Given the description of an element on the screen output the (x, y) to click on. 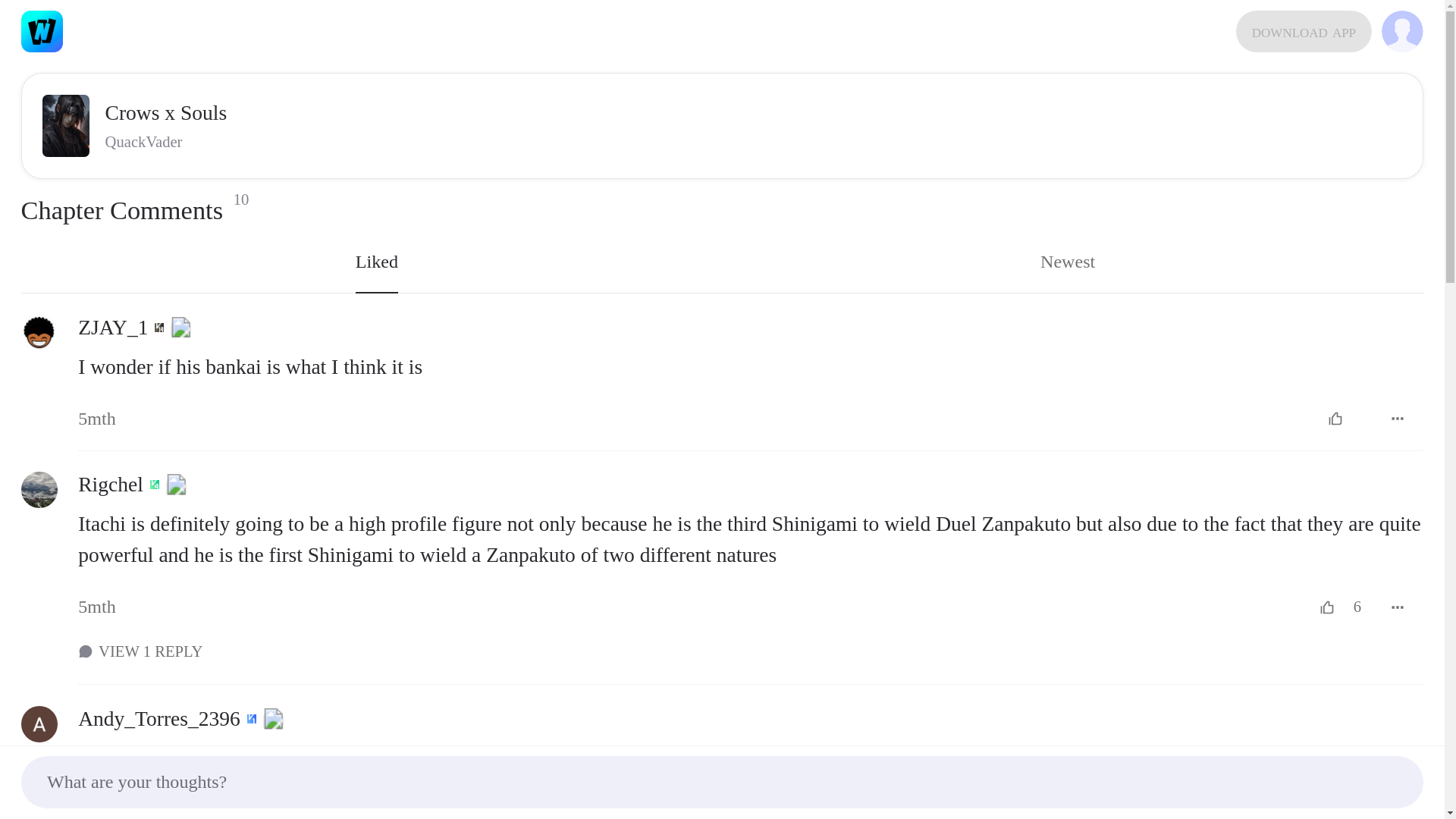
reply (750, 366)
Webnovel (41, 31)
reply (750, 538)
What are your thoughts? (722, 781)
reply (750, 780)
VIEW 1 REPLY (750, 650)
Newest (1067, 262)
Rigchel (376, 262)
Liked (39, 489)
Newest (376, 262)
download app (1067, 262)
view replies (1303, 31)
